Given the description of an element on the screen output the (x, y) to click on. 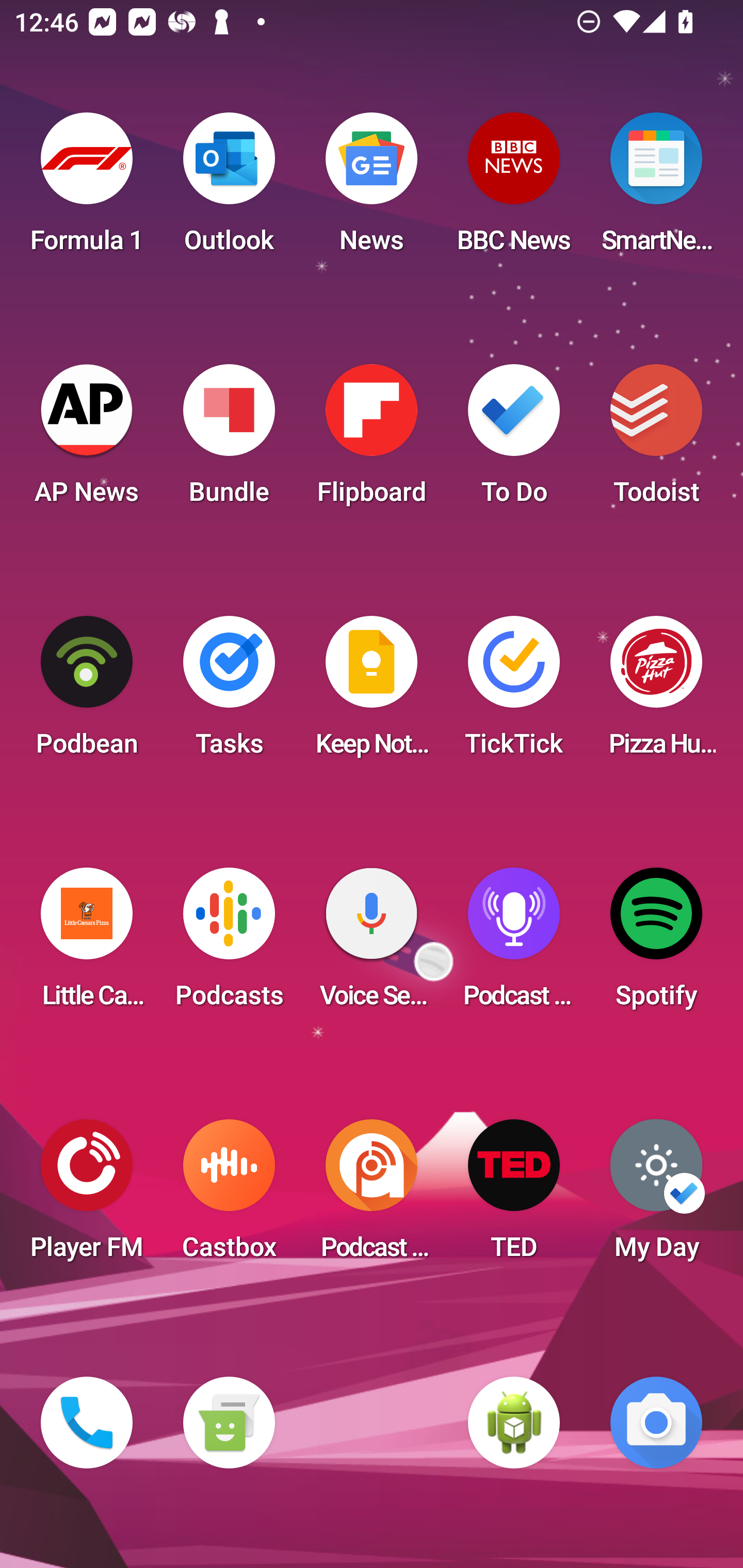
Formula 1 (86, 188)
Outlook (228, 188)
News (371, 188)
BBC News (513, 188)
SmartNews (656, 188)
AP News (86, 440)
Bundle (228, 440)
Flipboard (371, 440)
To Do (513, 440)
Todoist (656, 440)
Podbean (86, 692)
Tasks (228, 692)
Keep Notes (371, 692)
TickTick (513, 692)
Pizza Hut HK & Macau (656, 692)
Little Caesars Pizza (86, 943)
Podcasts (228, 943)
Voice Search (371, 943)
Podcast Player (513, 943)
Spotify (656, 943)
Player FM (86, 1195)
Castbox (228, 1195)
Podcast Addict (371, 1195)
TED (513, 1195)
My Day (656, 1195)
Phone (86, 1422)
Messaging (228, 1422)
WebView Browser Tester (513, 1422)
Camera (656, 1422)
